Given the description of an element on the screen output the (x, y) to click on. 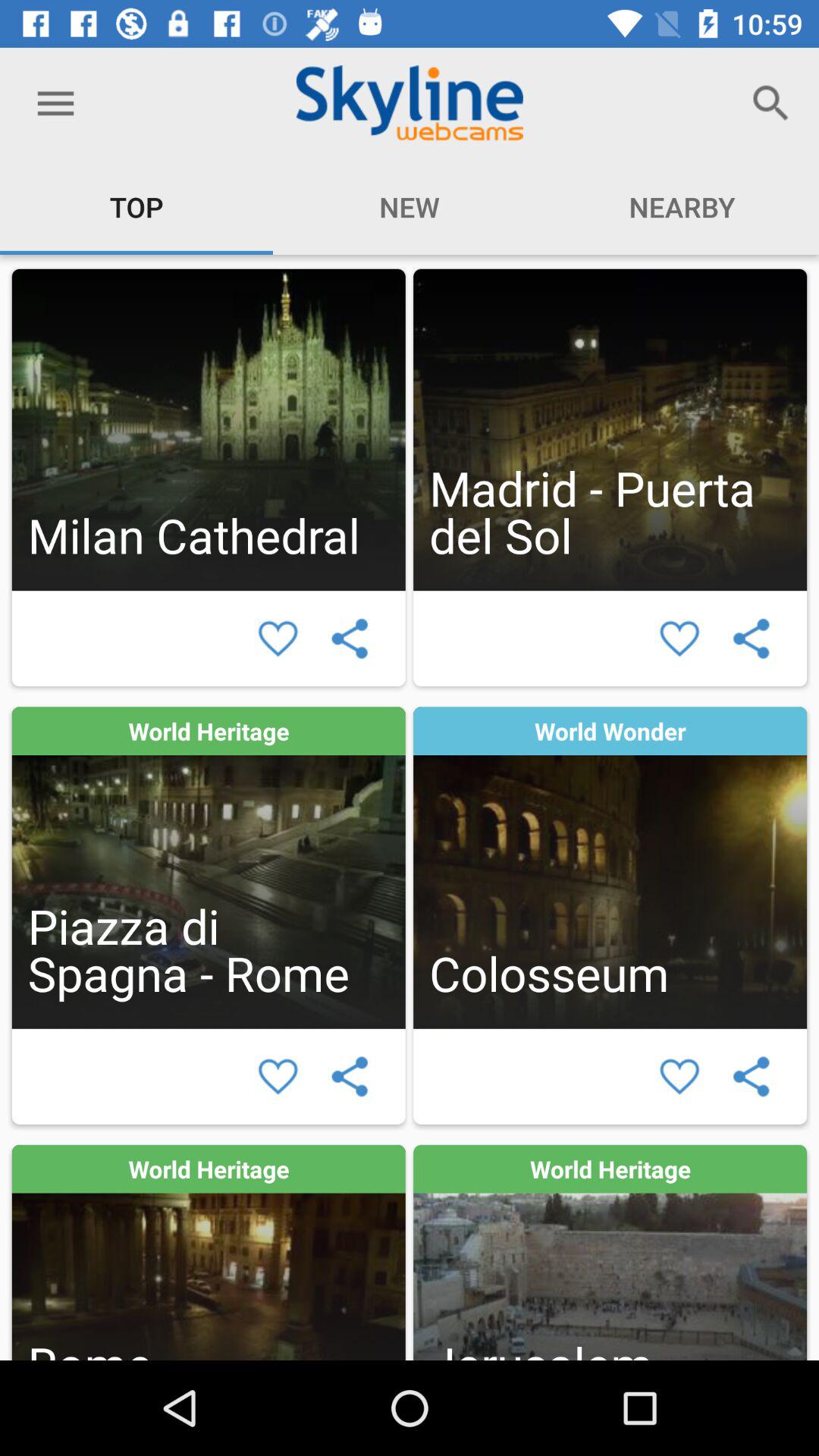
compartilhar esta mdia nas redes sociais (751, 1076)
